Given the description of an element on the screen output the (x, y) to click on. 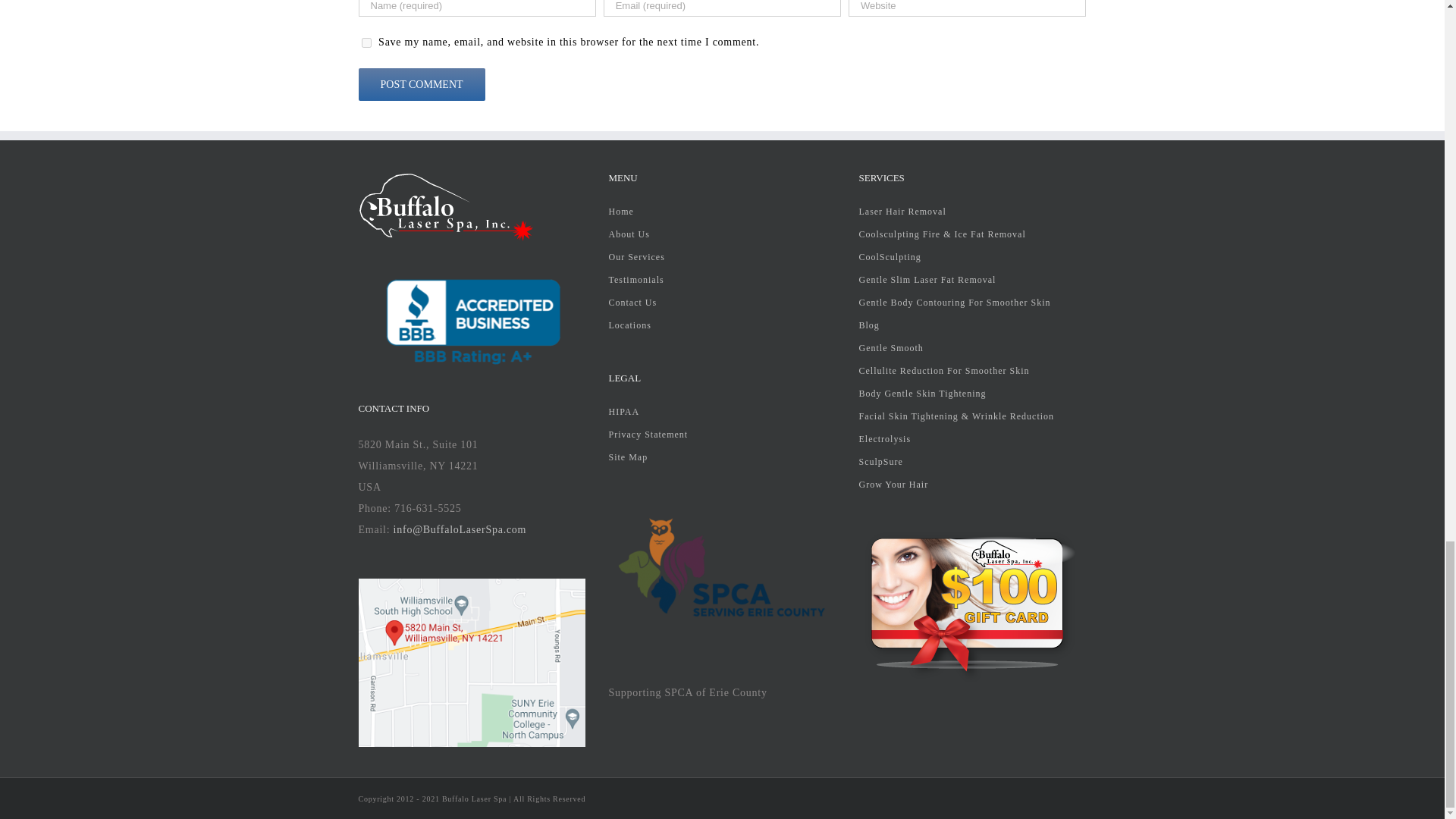
Post Comment (421, 83)
yes (366, 42)
